Given the description of an element on the screen output the (x, y) to click on. 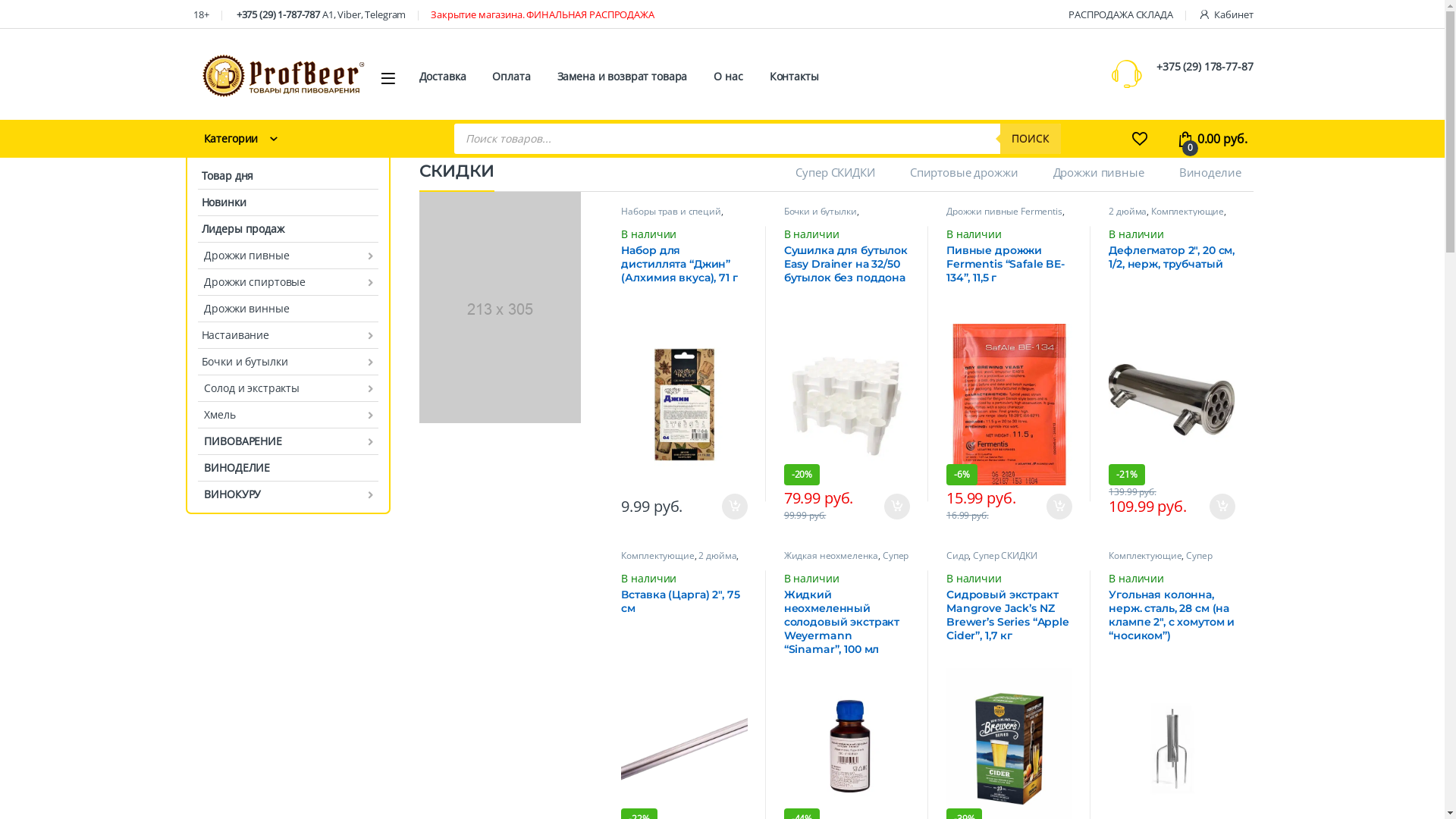
 18+ Element type: text (199, 14)
+375 (29) 178-77-87 Element type: text (1204, 66)
